Given the description of an element on the screen output the (x, y) to click on. 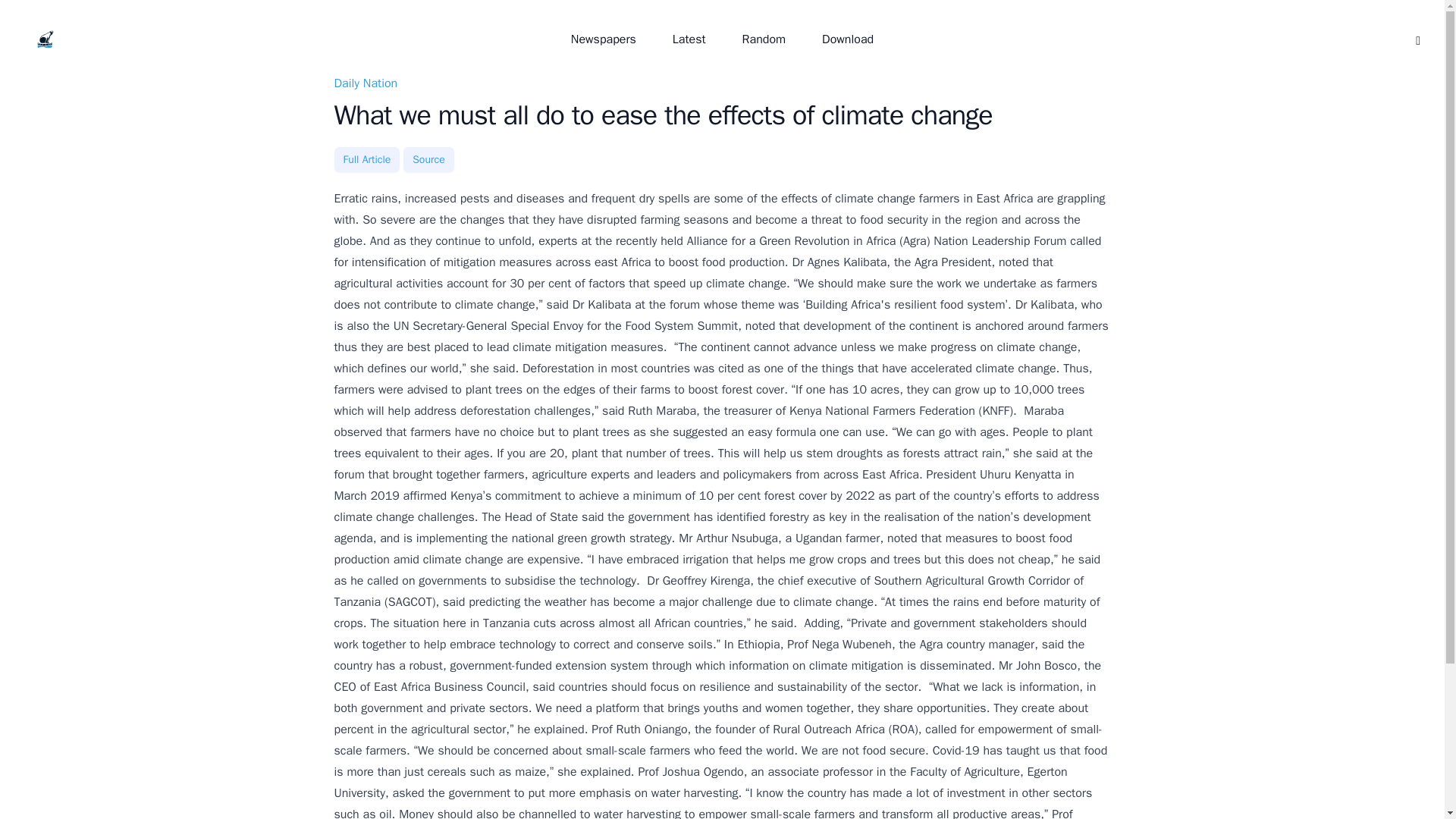
Newspapers (603, 39)
Random (763, 39)
Daily Nation (365, 83)
Your Company (45, 39)
Source (428, 159)
Latest (688, 39)
Download (847, 39)
Full Article (365, 159)
